Given the description of an element on the screen output the (x, y) to click on. 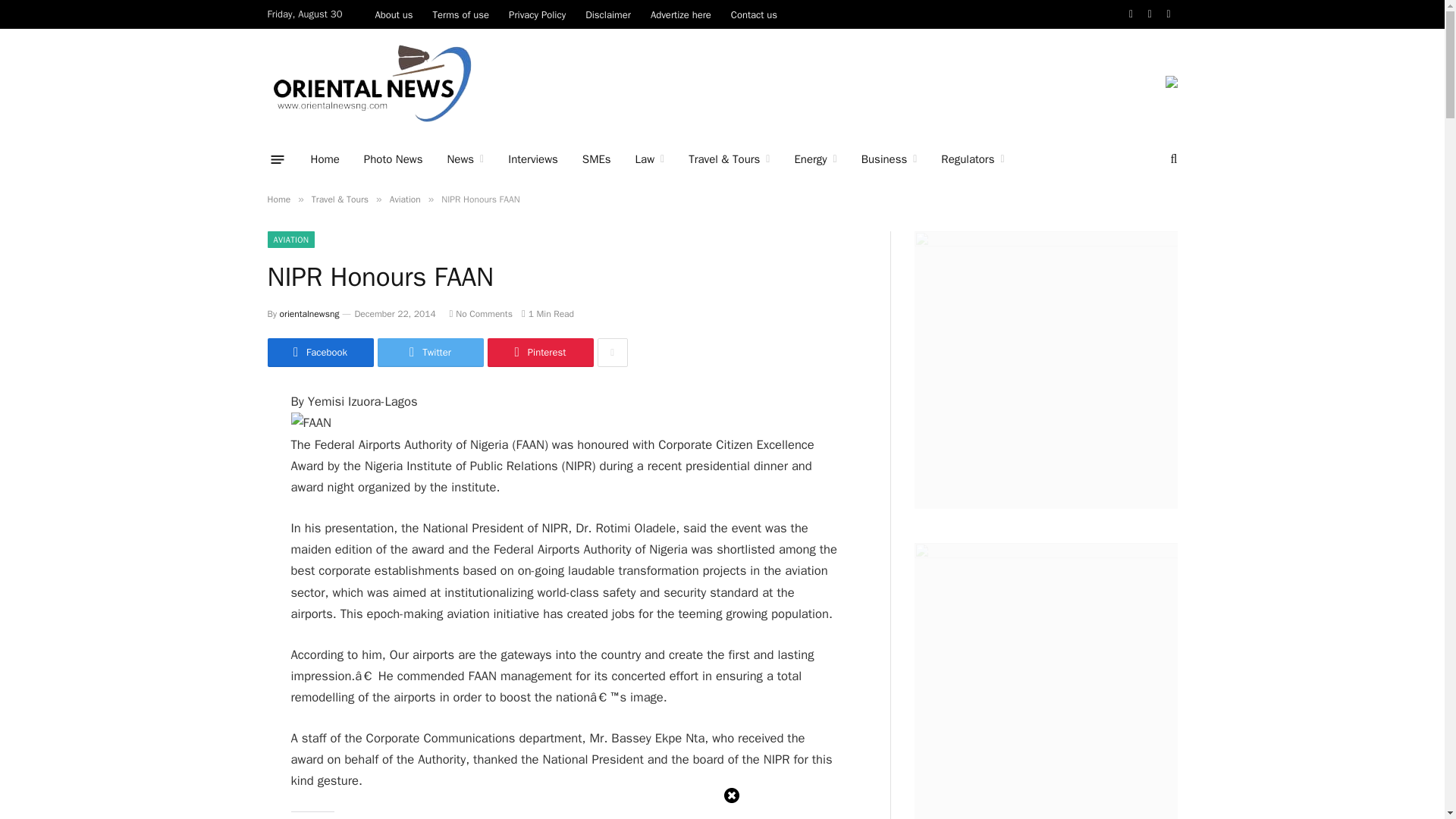
Share on Facebook (319, 352)
Share on Pinterest (539, 352)
Show More Social Sharing (611, 352)
Oriental News Nigeria (371, 83)
Posts by orientalnewsng (309, 313)
